Given the description of an element on the screen output the (x, y) to click on. 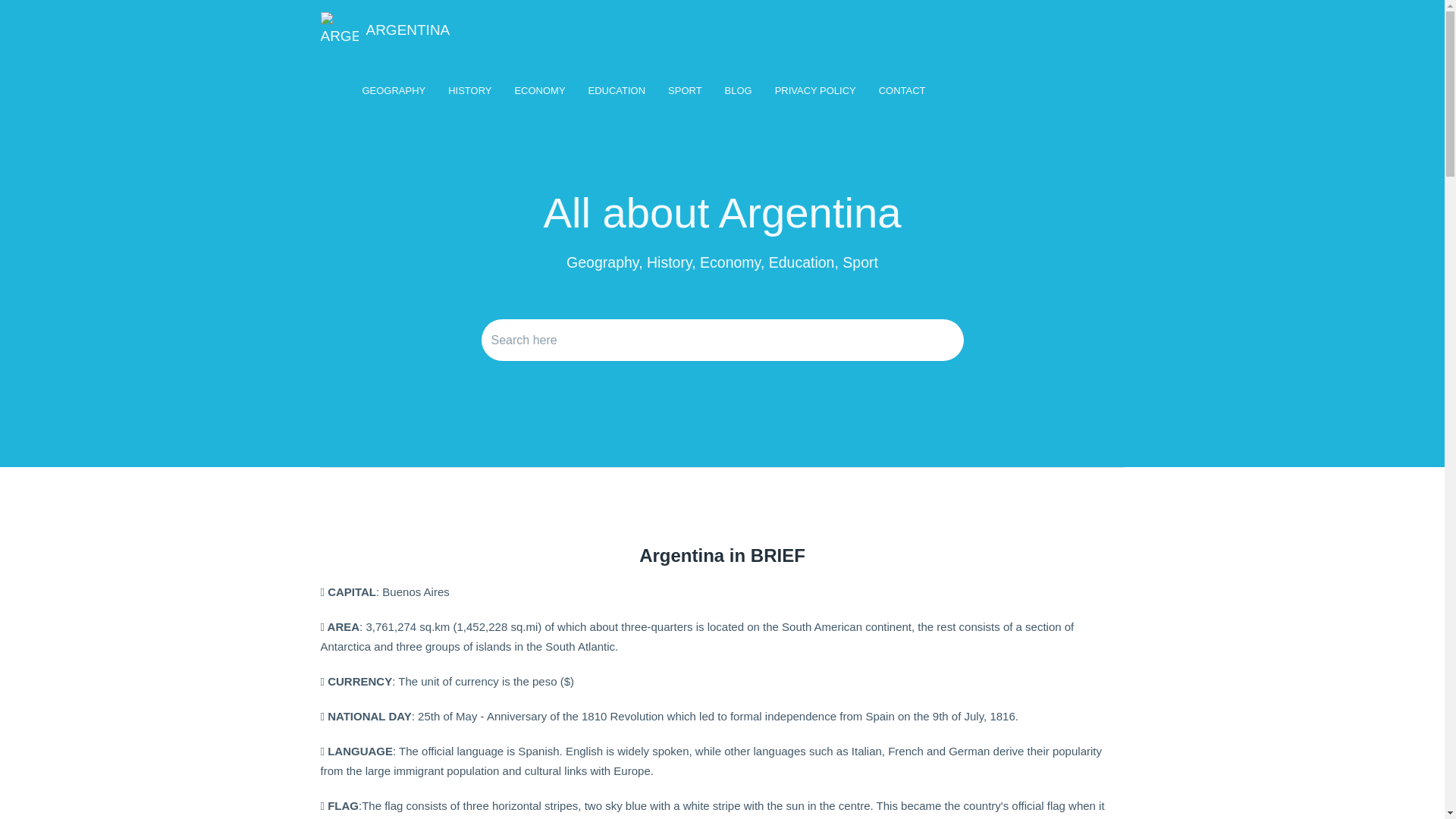
HISTORY Element type: text (469, 90)
GEOGRAPHY Element type: text (393, 90)
SPORT Element type: text (684, 90)
BLOG Element type: text (738, 90)
ECONOMY Element type: text (539, 90)
EDUCATION Element type: text (617, 90)
ARGENTINA Element type: text (385, 30)
CONTACT Element type: text (902, 90)
PRIVACY POLICY Element type: text (815, 90)
